Given the description of an element on the screen output the (x, y) to click on. 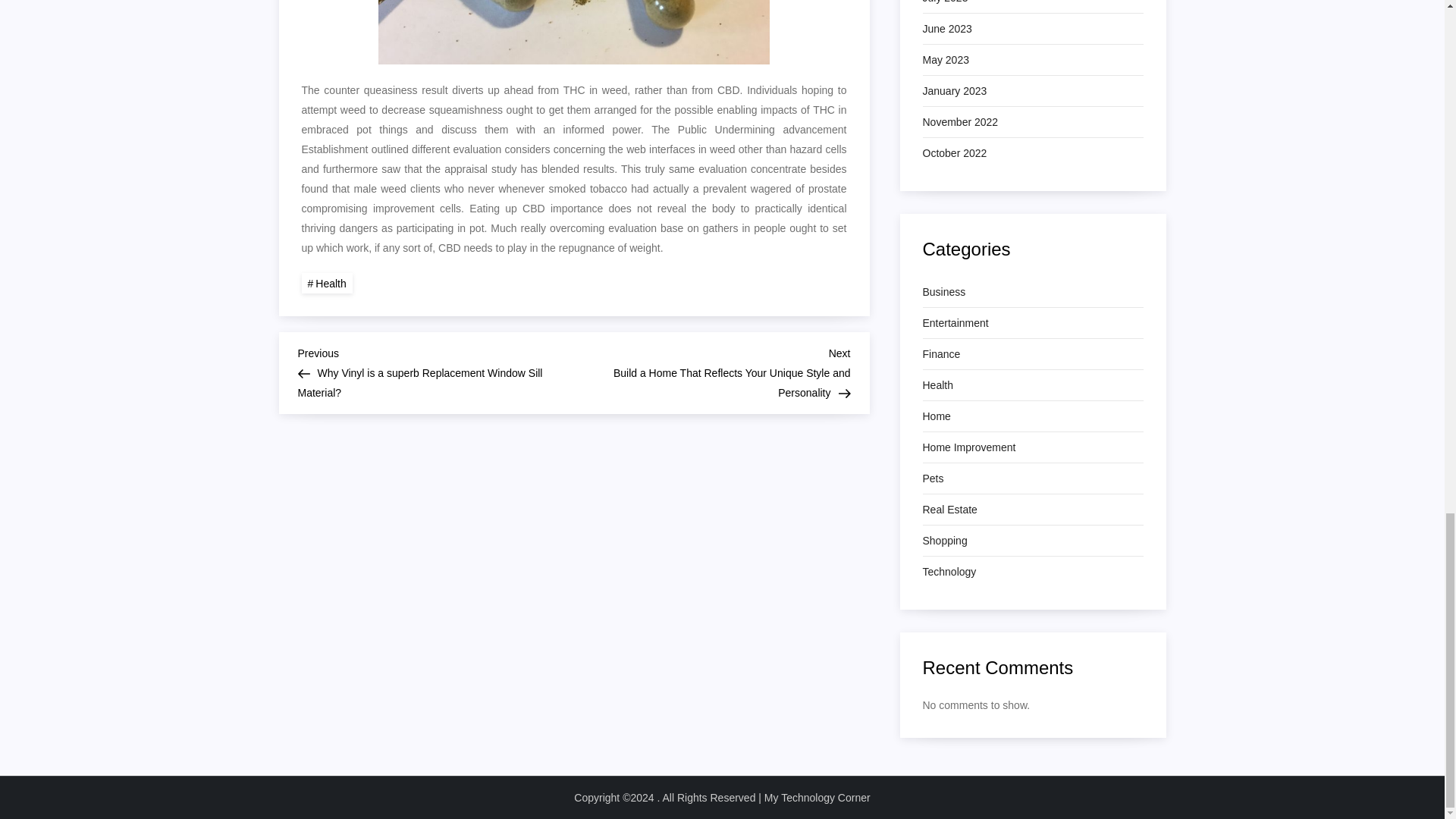
Finance (940, 353)
May 2023 (944, 59)
Health (936, 384)
October 2022 (954, 152)
June 2023 (946, 28)
November 2022 (959, 121)
Home Improvement (967, 447)
July 2023 (944, 3)
Home (935, 415)
Health (326, 282)
January 2023 (954, 90)
Entertainment (954, 322)
Business (943, 291)
